Given the description of an element on the screen output the (x, y) to click on. 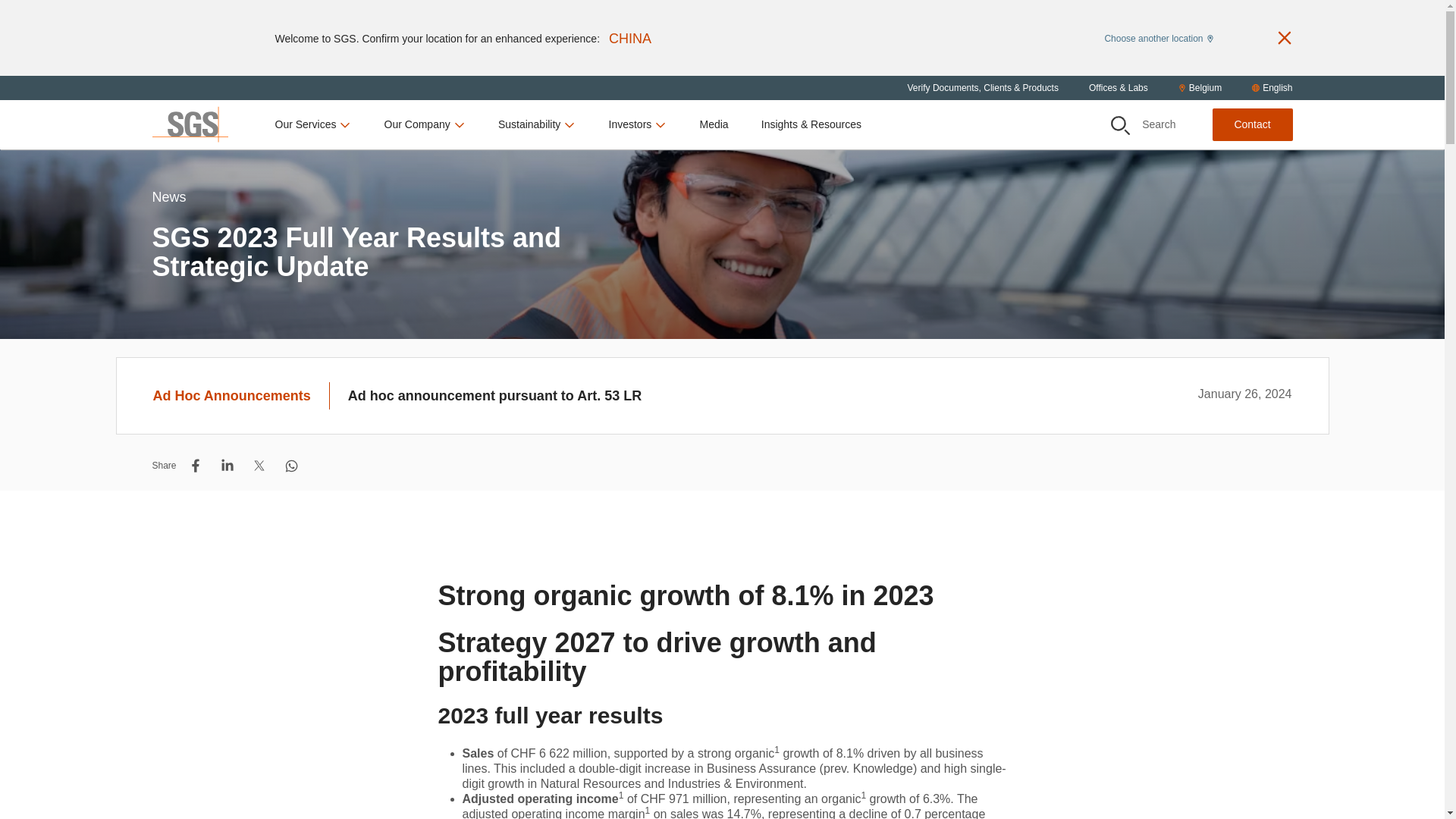
CHINA (629, 38)
Contact (1251, 124)
Search (1143, 124)
Belgium (1199, 87)
Search (1119, 125)
Investors (637, 124)
Choose another location (1157, 37)
Ad Hoc Announcements (241, 395)
Our Services (313, 124)
Our Company (424, 124)
Media (713, 124)
SGS (189, 124)
News (168, 215)
Sustainability (536, 124)
